Given the description of an element on the screen output the (x, y) to click on. 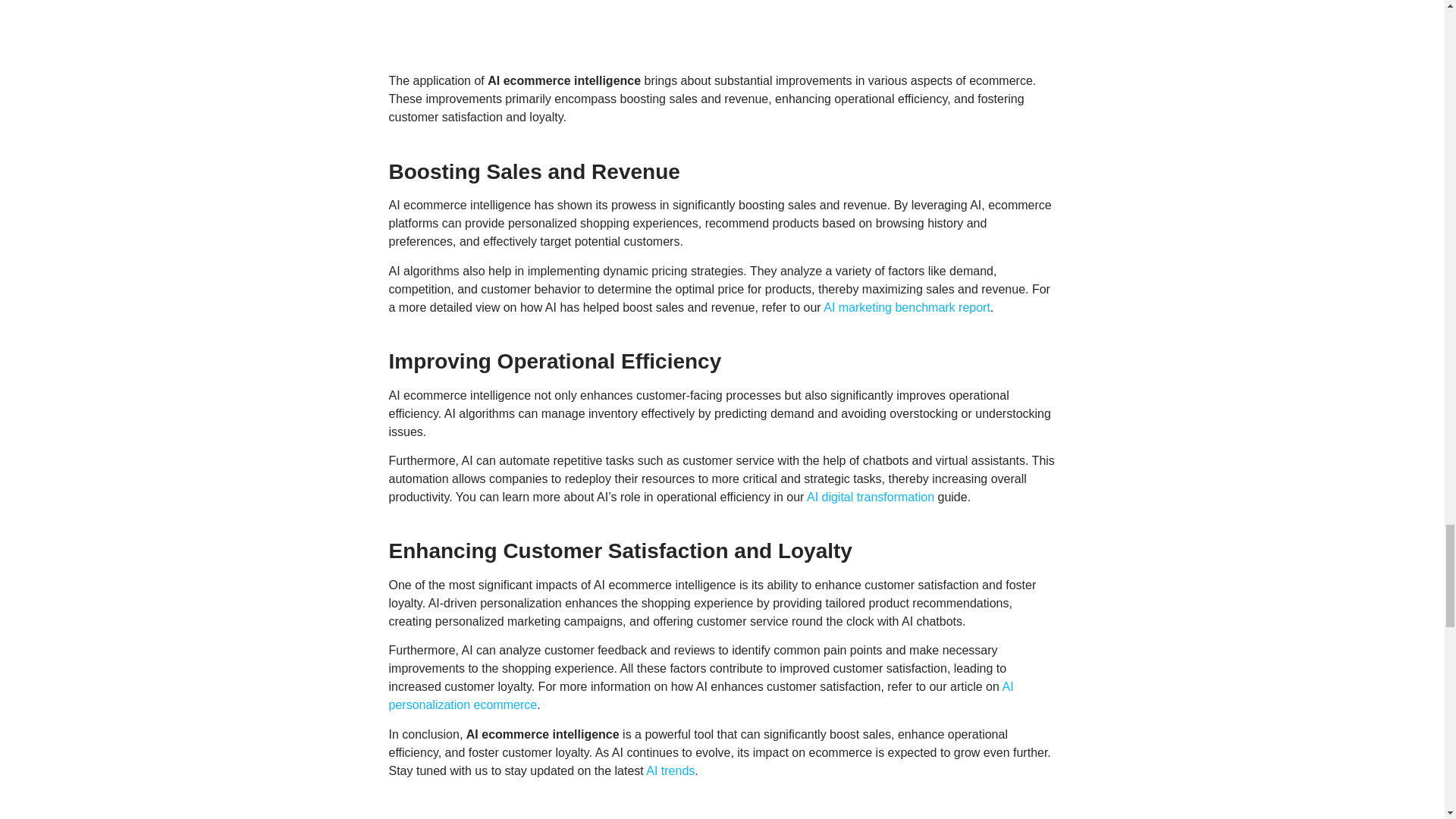
AI personalization ecommerce (700, 695)
AI digital transformation (870, 496)
AI marketing benchmark report (907, 307)
AI trends (670, 770)
